Given the description of an element on the screen output the (x, y) to click on. 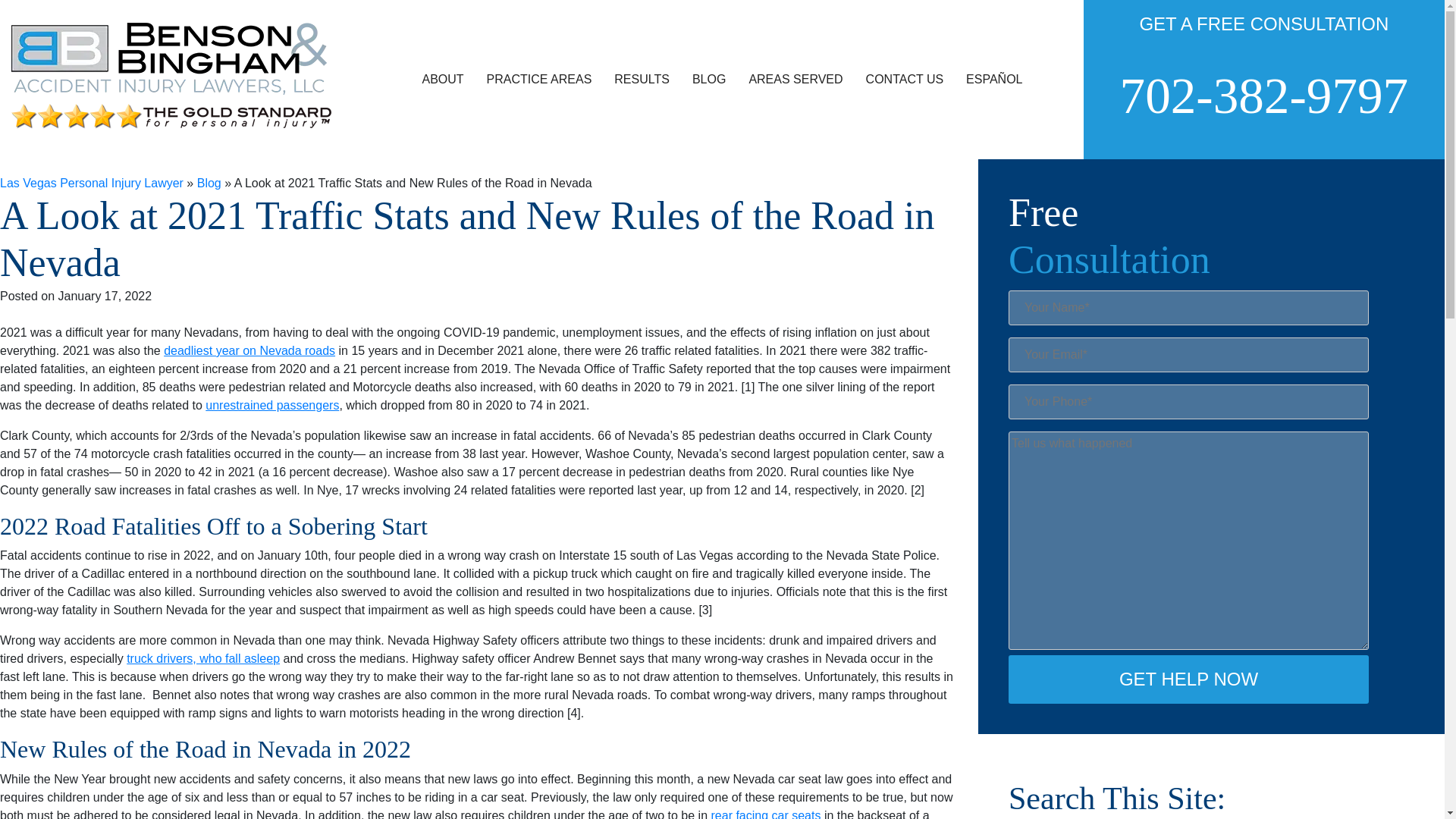
Get Help Now (1188, 679)
